Given the description of an element on the screen output the (x, y) to click on. 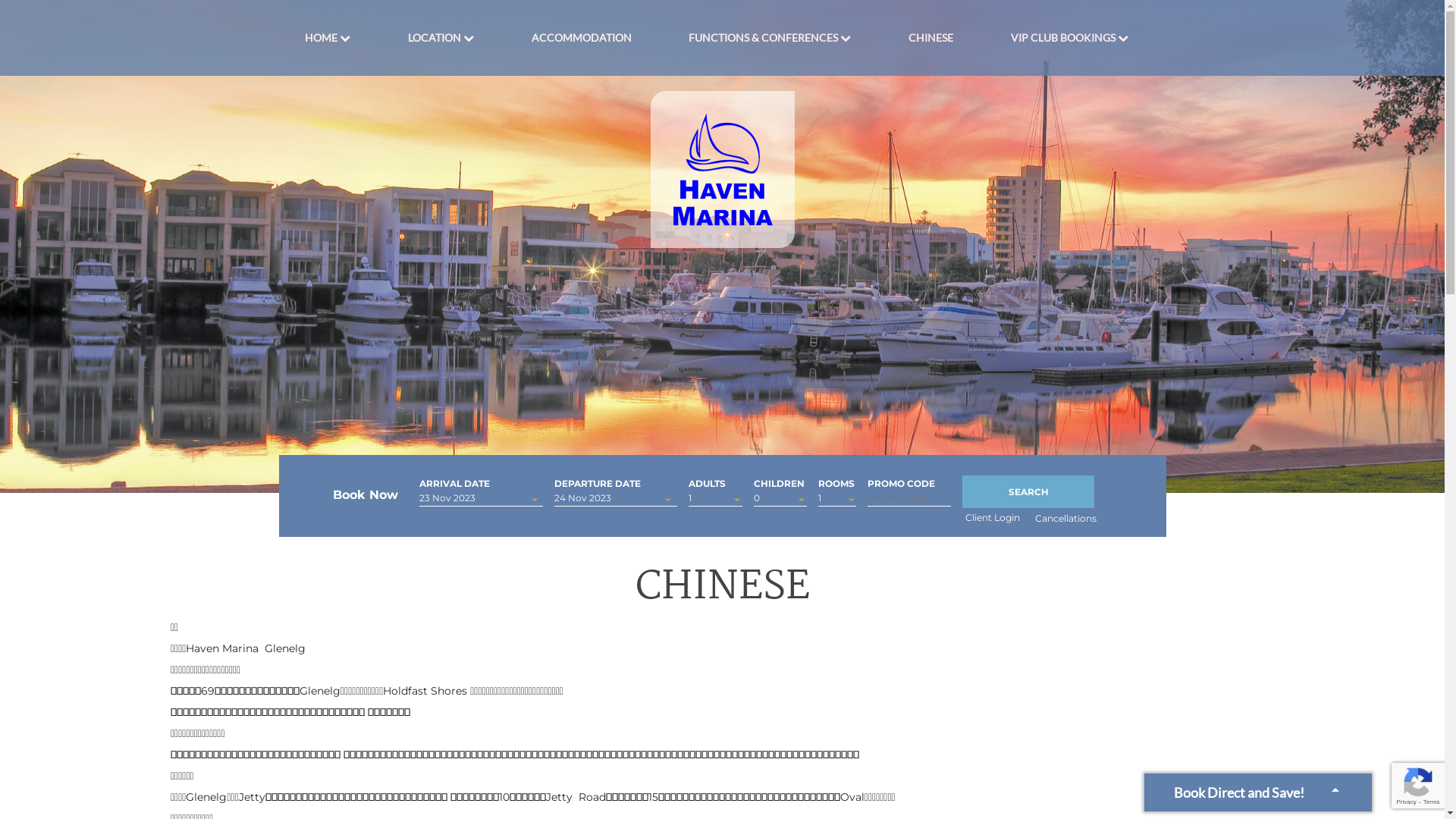
CHINESE Element type: text (930, 37)
SEARCH Element type: text (1028, 491)
LOCATION Element type: text (434, 37)
VIP CLUB BOOKINGS Element type: text (1062, 37)
HOME Element type: text (320, 37)
FUNCTIONS & CONFERENCES Element type: text (762, 37)
Client Login Element type: text (992, 517)
Cancellations Element type: text (1065, 518)
ACCOMMODATION Element type: text (581, 37)
